Given the description of an element on the screen output the (x, y) to click on. 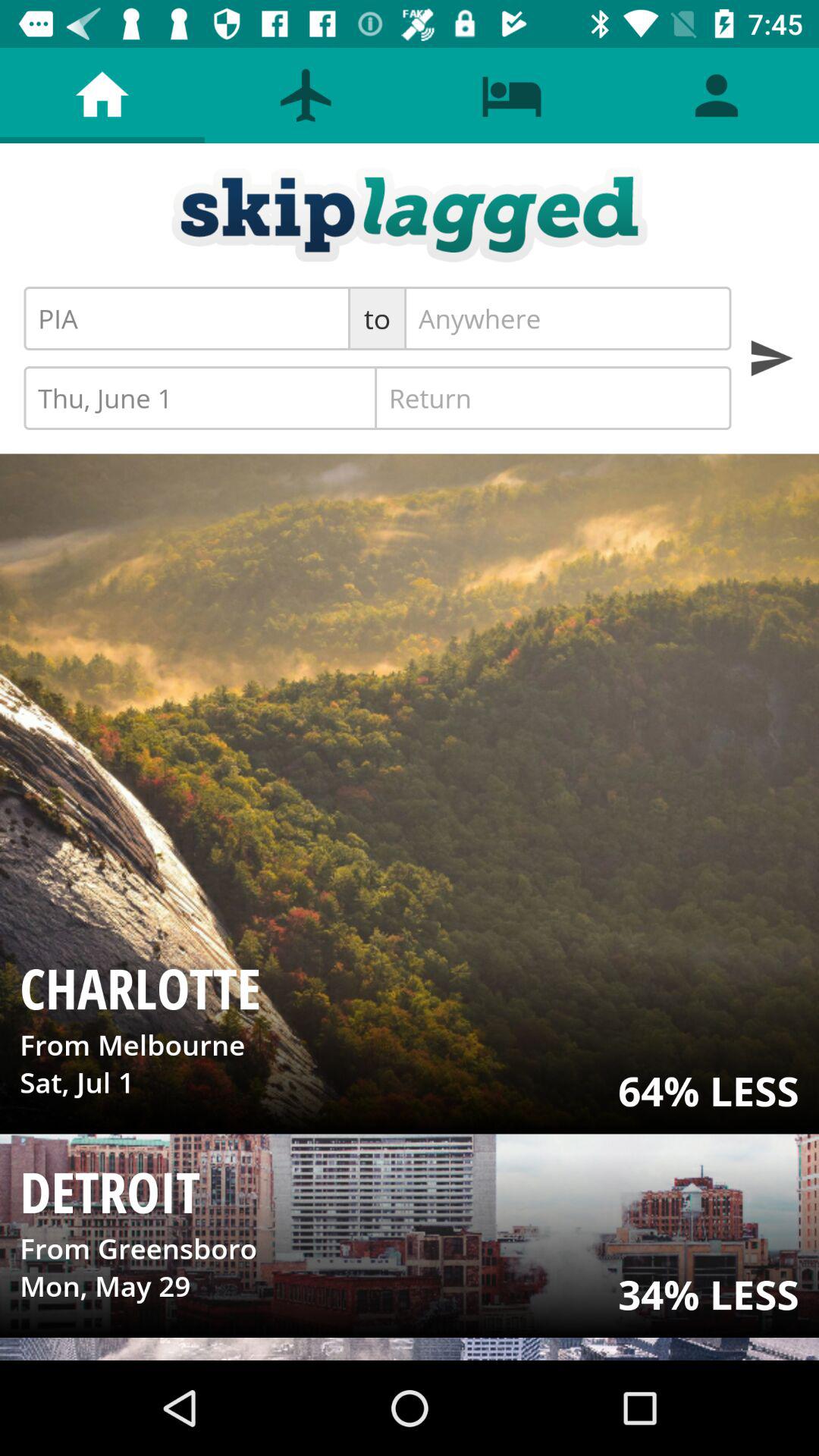
enter return date (553, 397)
